Given the description of an element on the screen output the (x, y) to click on. 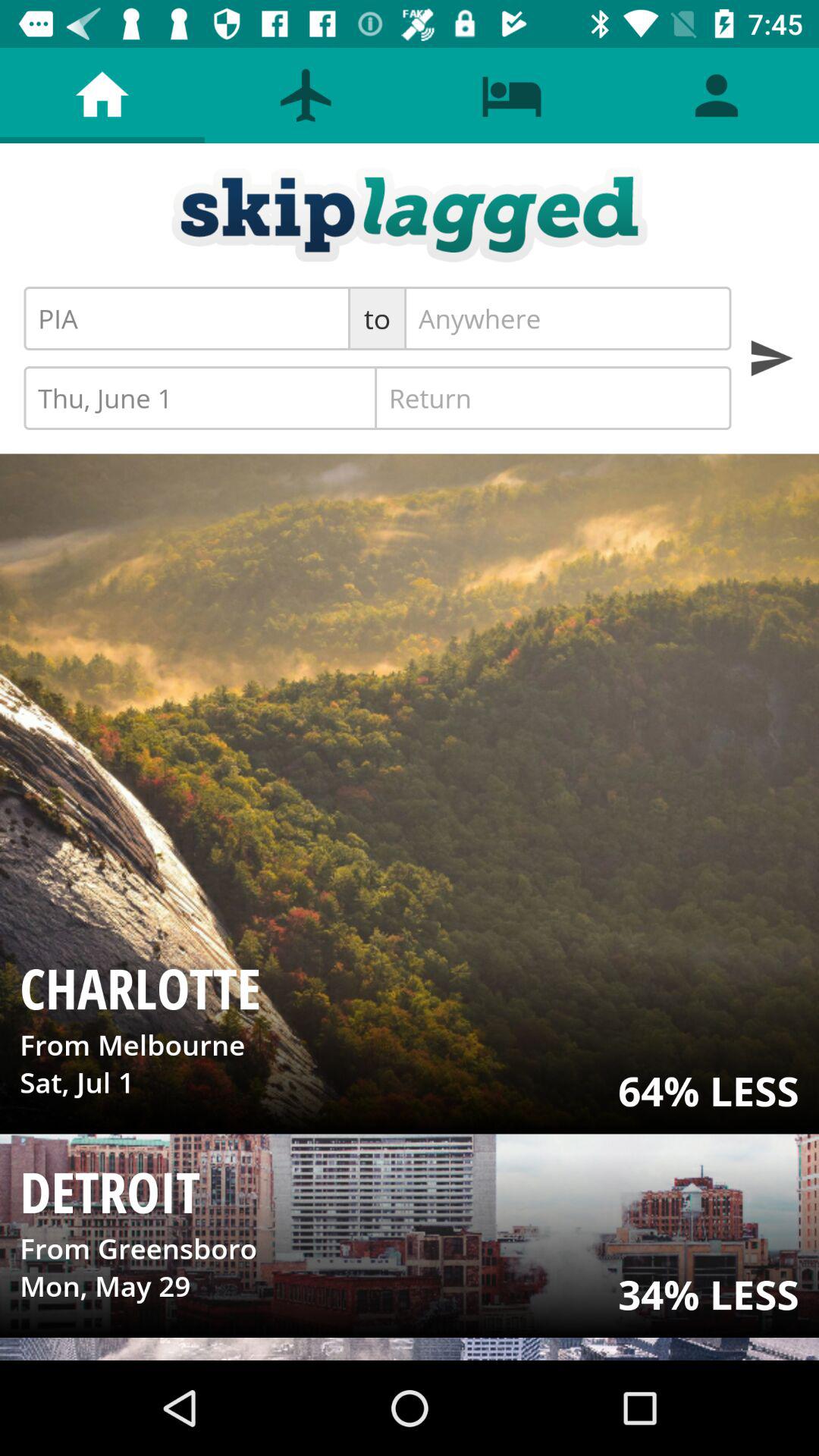
enter return date (553, 397)
